Given the description of an element on the screen output the (x, y) to click on. 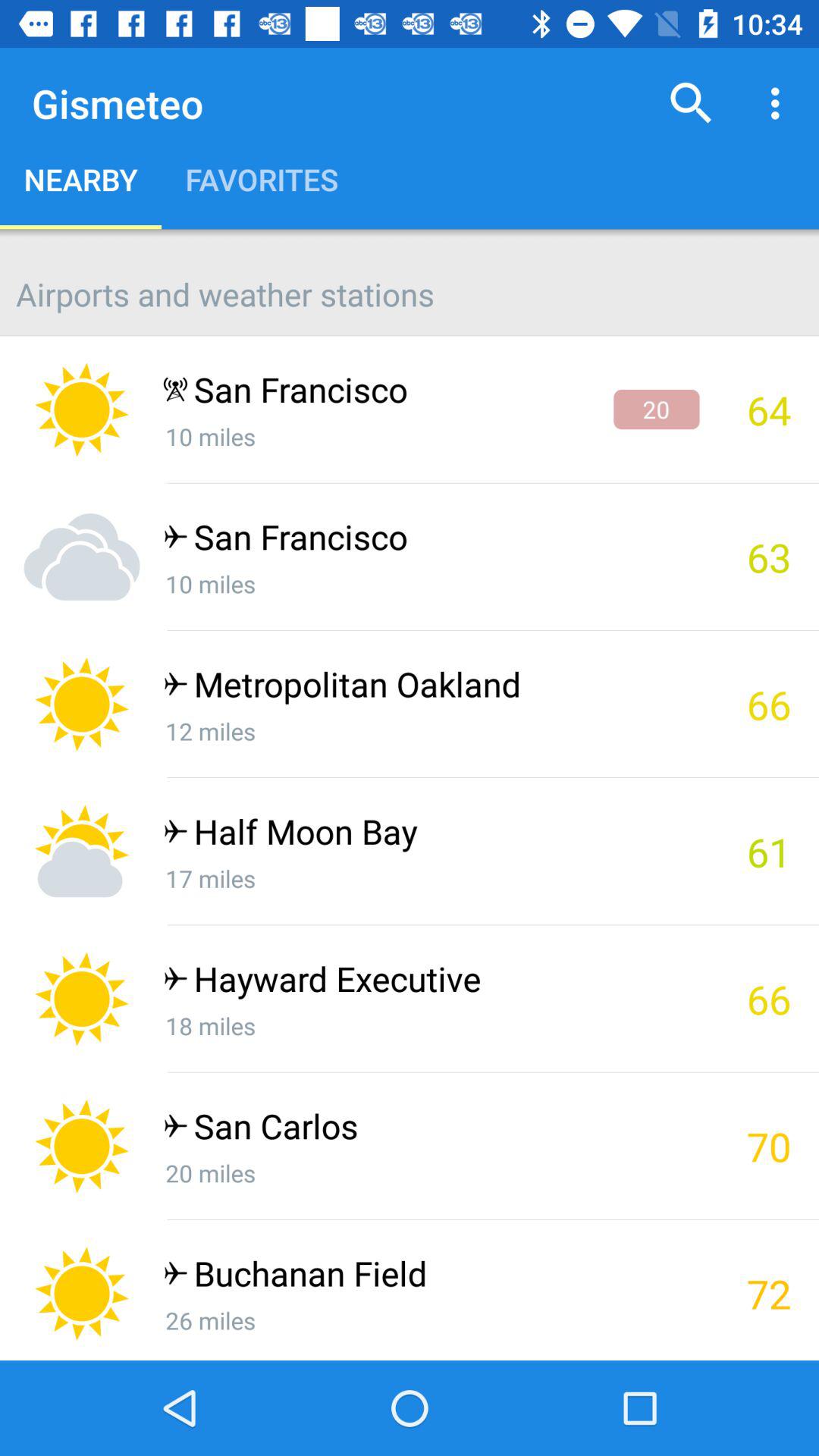
open the metropolitan oakland (431, 687)
